Given the description of an element on the screen output the (x, y) to click on. 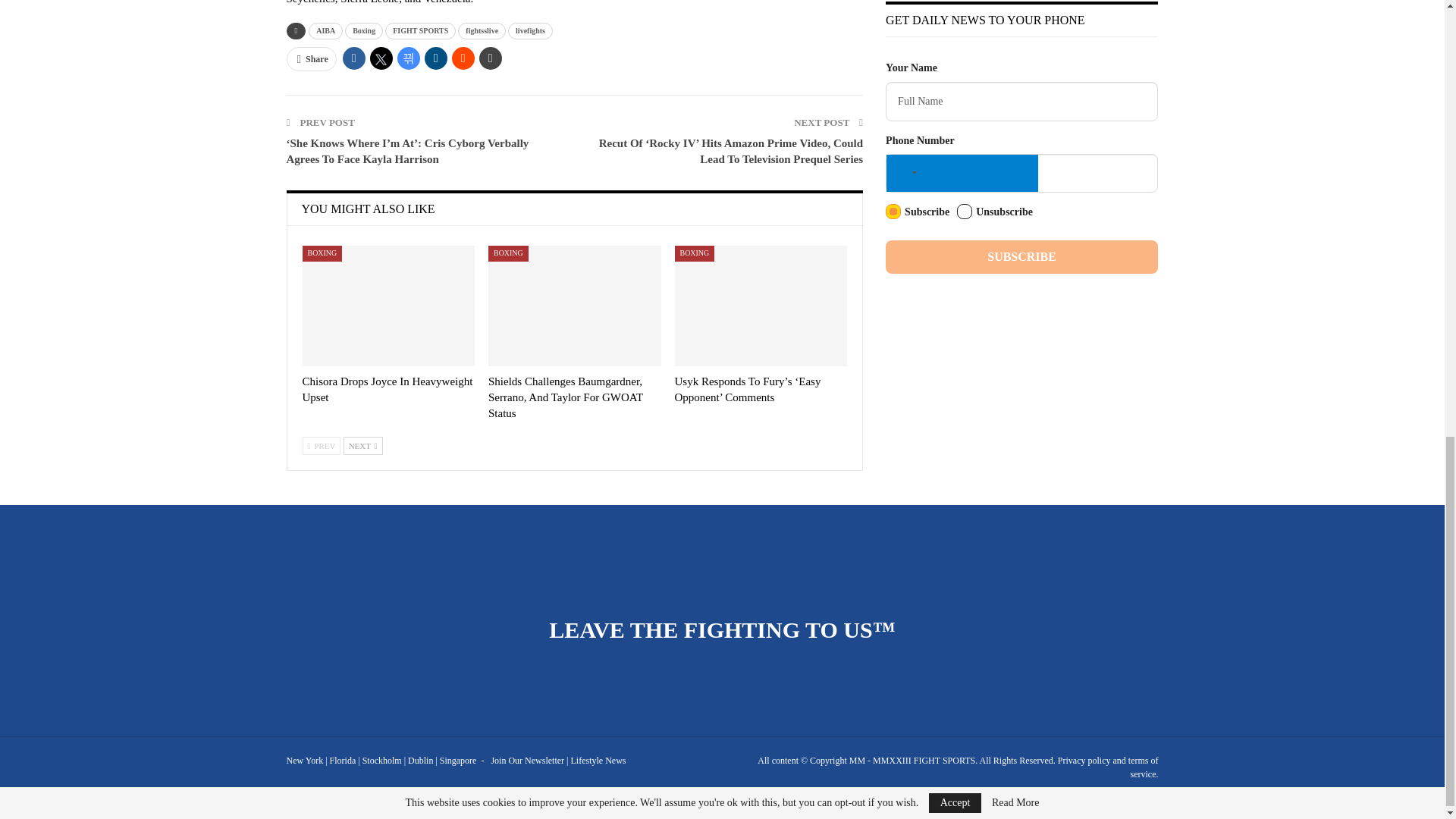
unsubscribe (964, 211)
subscribe (893, 211)
